Given the description of an element on the screen output the (x, y) to click on. 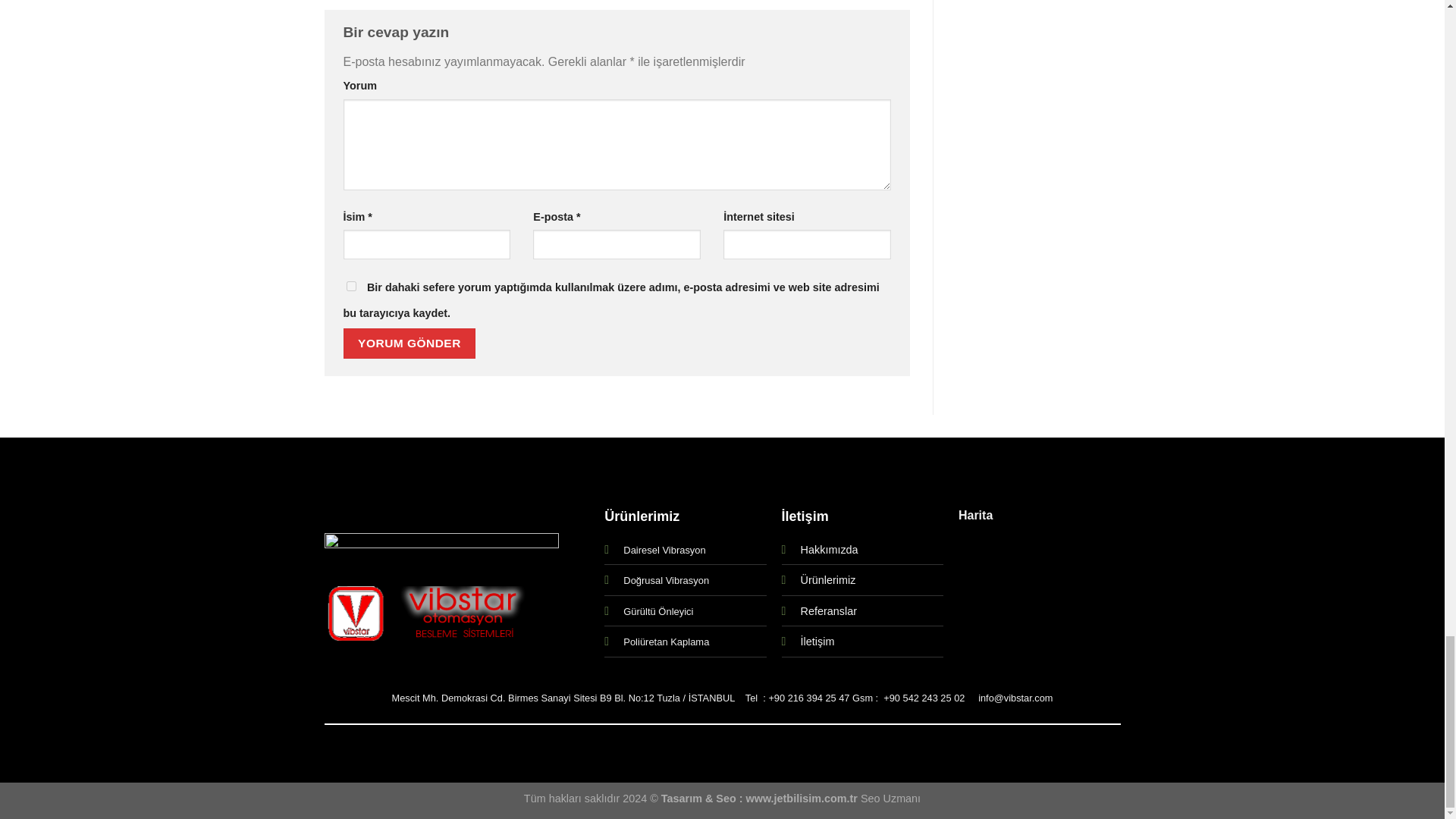
yes (350, 286)
